Given the description of an element on the screen output the (x, y) to click on. 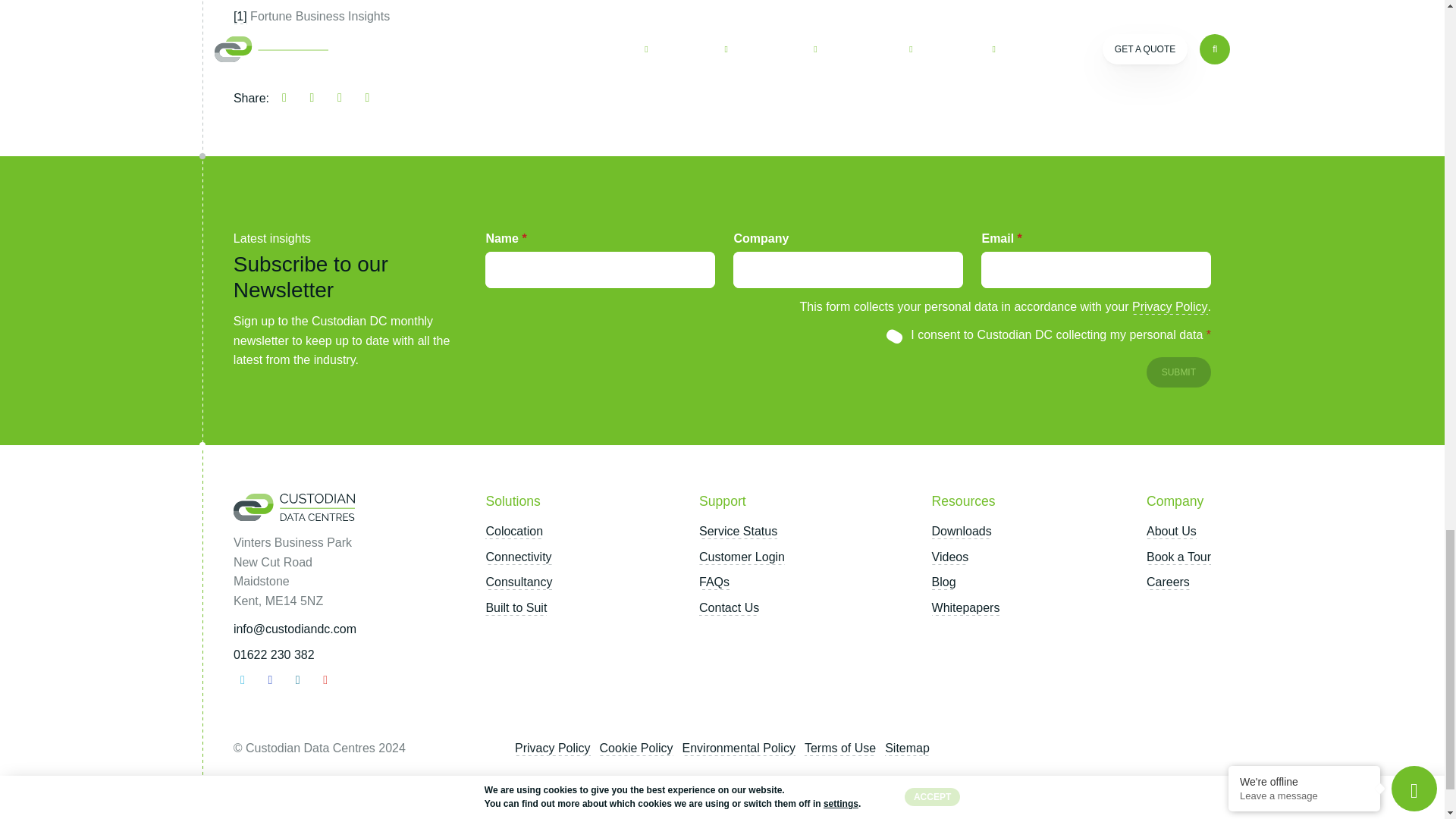
1 (896, 333)
Submit (1179, 372)
